Given the description of an element on the screen output the (x, y) to click on. 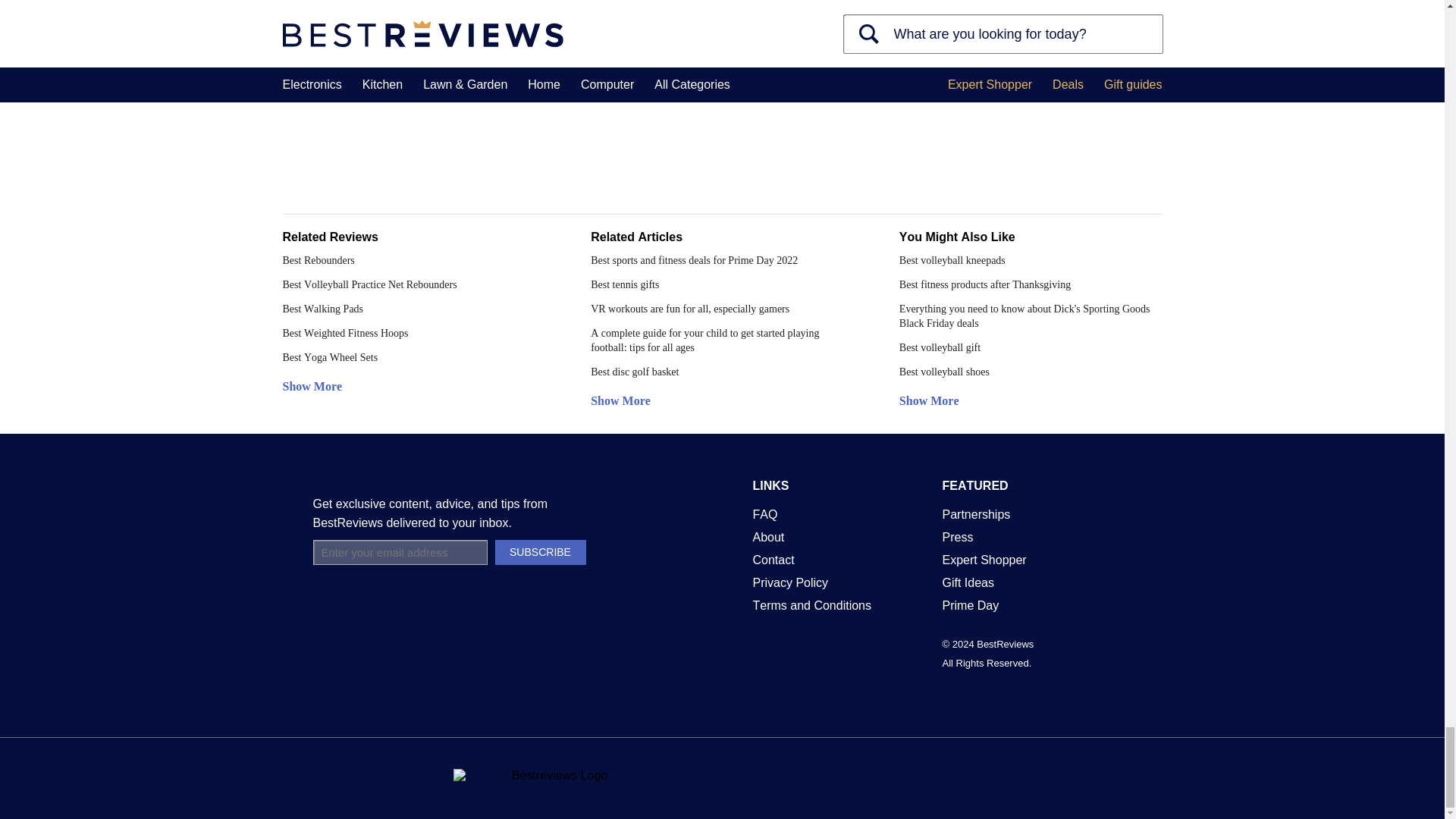
Contact Us (772, 559)
Frequently asked questions (764, 513)
Subscribe email (399, 552)
